Given the description of an element on the screen output the (x, y) to click on. 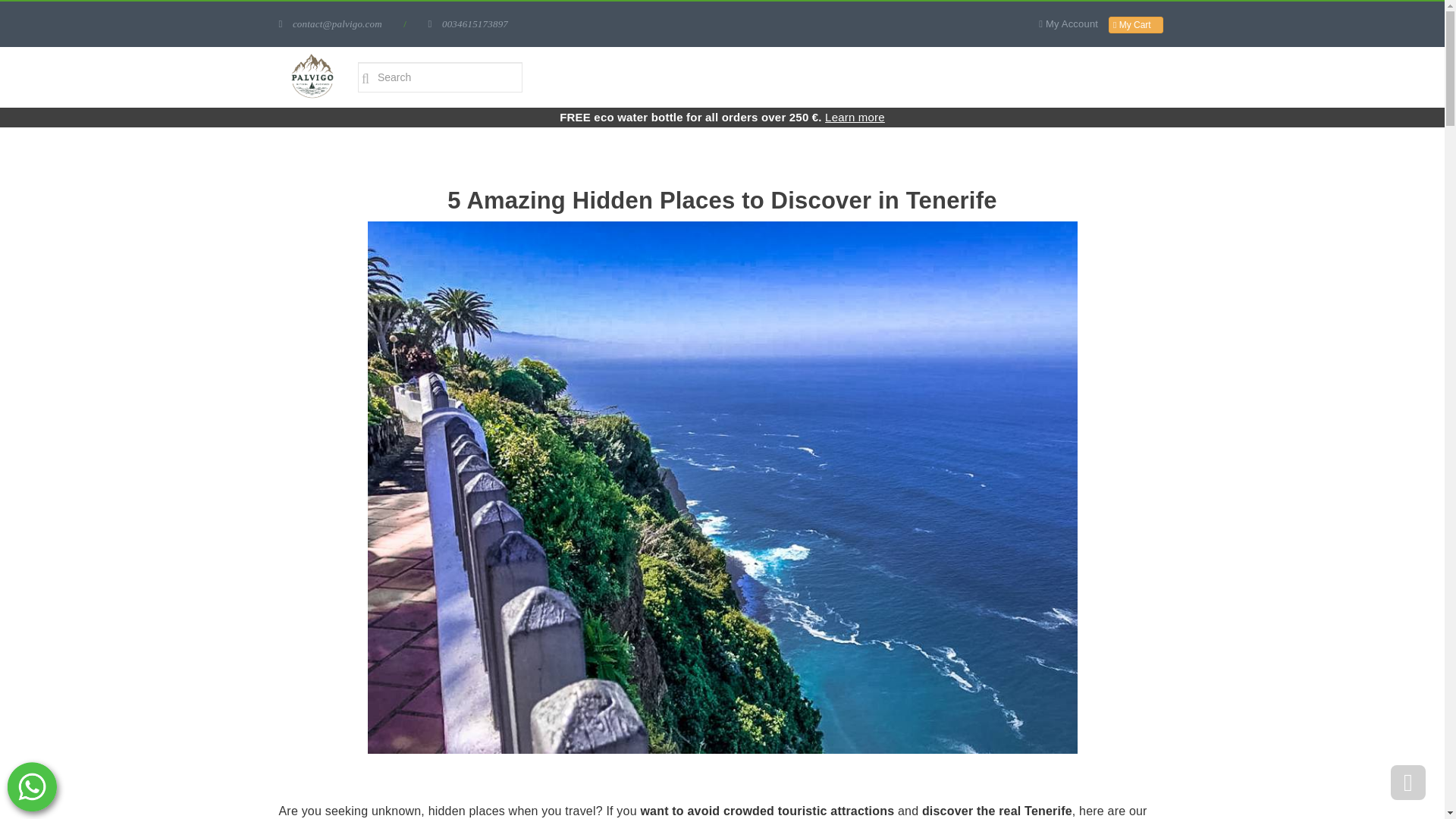
0034615173897 (468, 23)
Whatsapp (31, 786)
My Cart (1132, 24)
My Account (1069, 23)
My Cart (1135, 24)
